Given the description of an element on the screen output the (x, y) to click on. 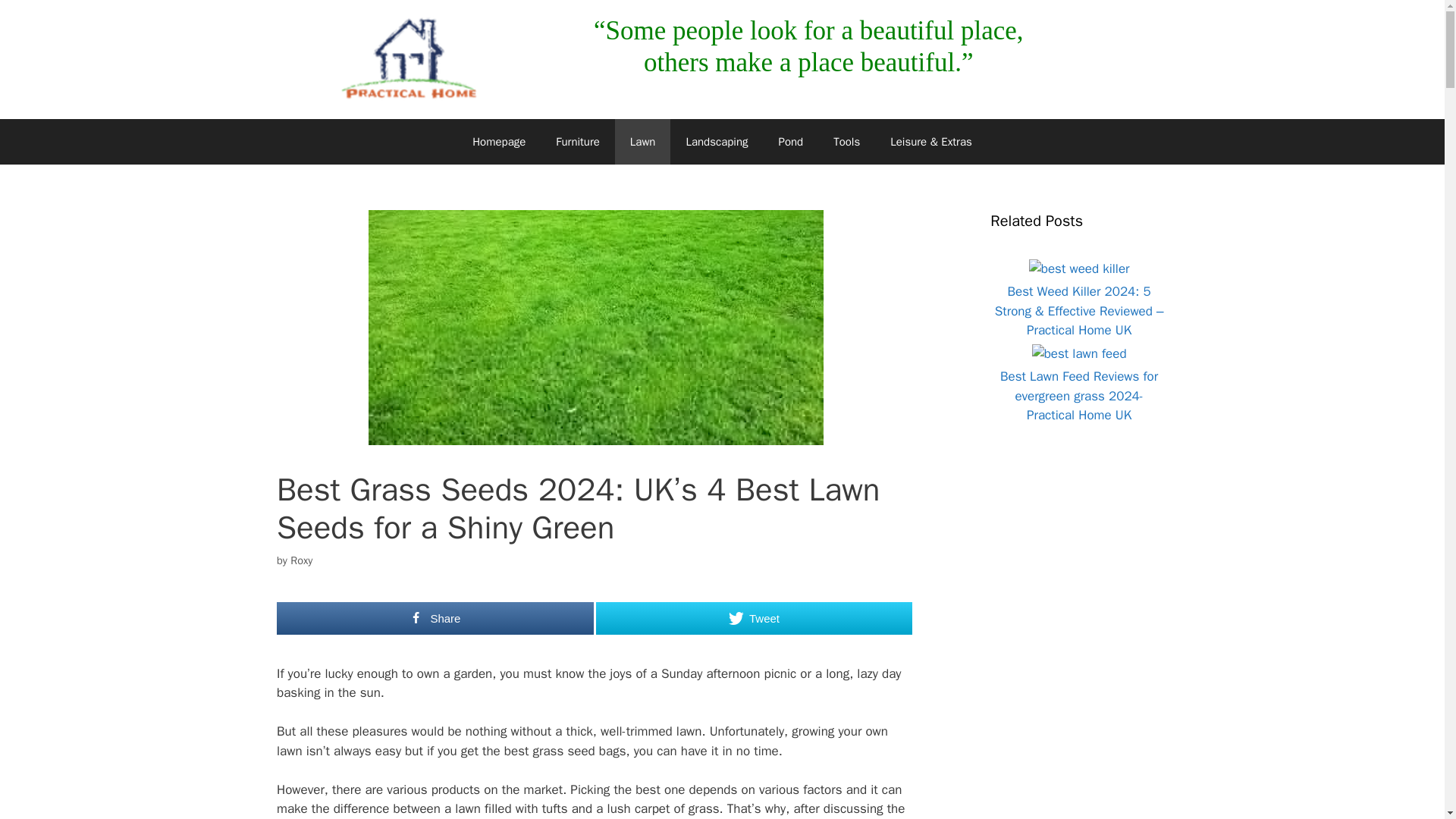
View all posts by Roxy (301, 560)
Tools (846, 141)
Pond (790, 141)
Share (435, 617)
Homepage (498, 141)
Practical Home (408, 58)
Landscaping (715, 141)
Tweet (753, 617)
Roxy (301, 560)
Furniture (577, 141)
Lawn (642, 141)
Practical Home (408, 59)
